Given the description of an element on the screen output the (x, y) to click on. 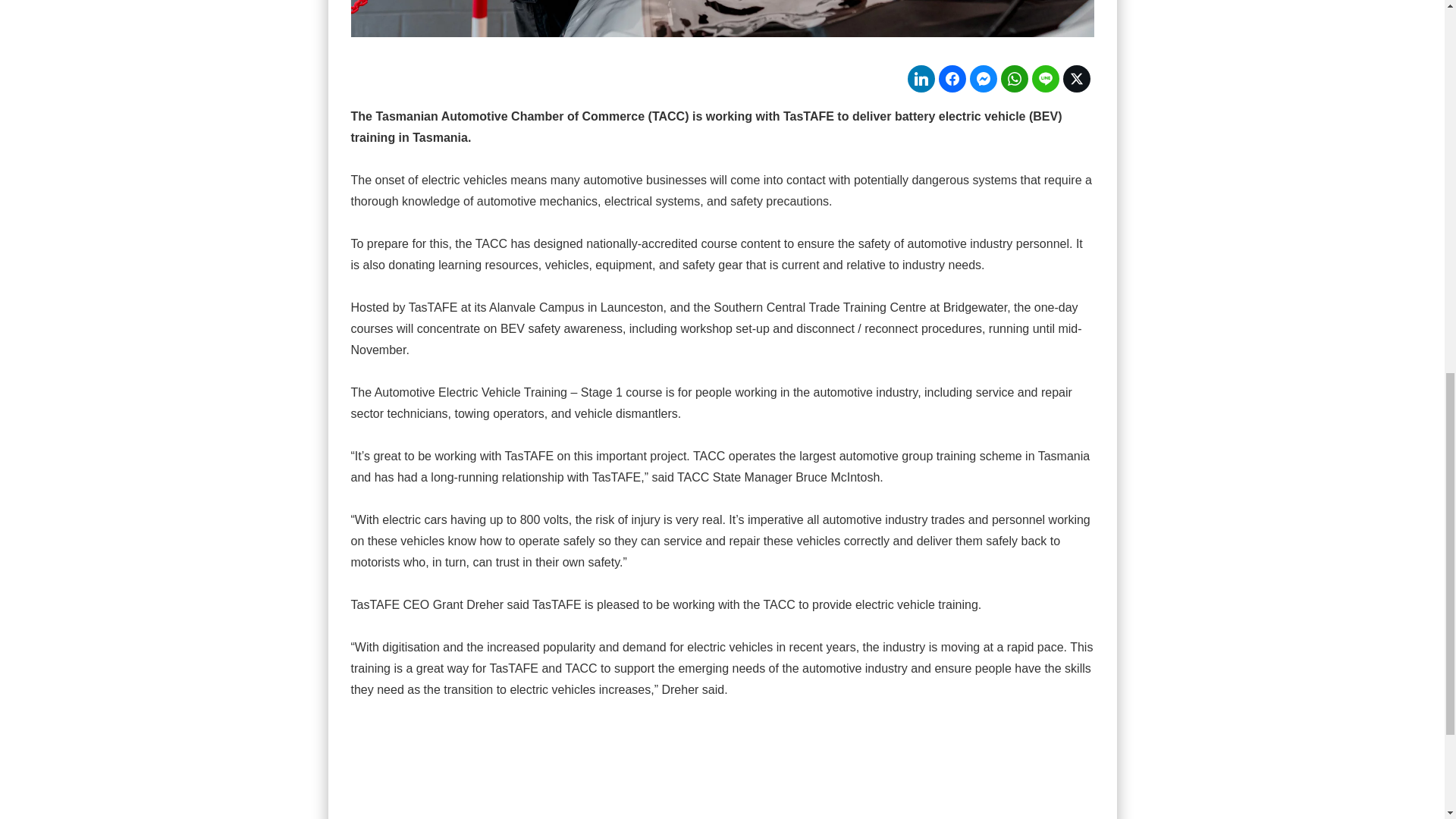
Share on Line (1044, 78)
Share on WhatsApp (1014, 78)
Share on Facebook (952, 78)
Share on Twitter (1076, 78)
Share on Facebook Messenger (982, 78)
Share on LinkedIn (920, 78)
